Given the description of an element on the screen output the (x, y) to click on. 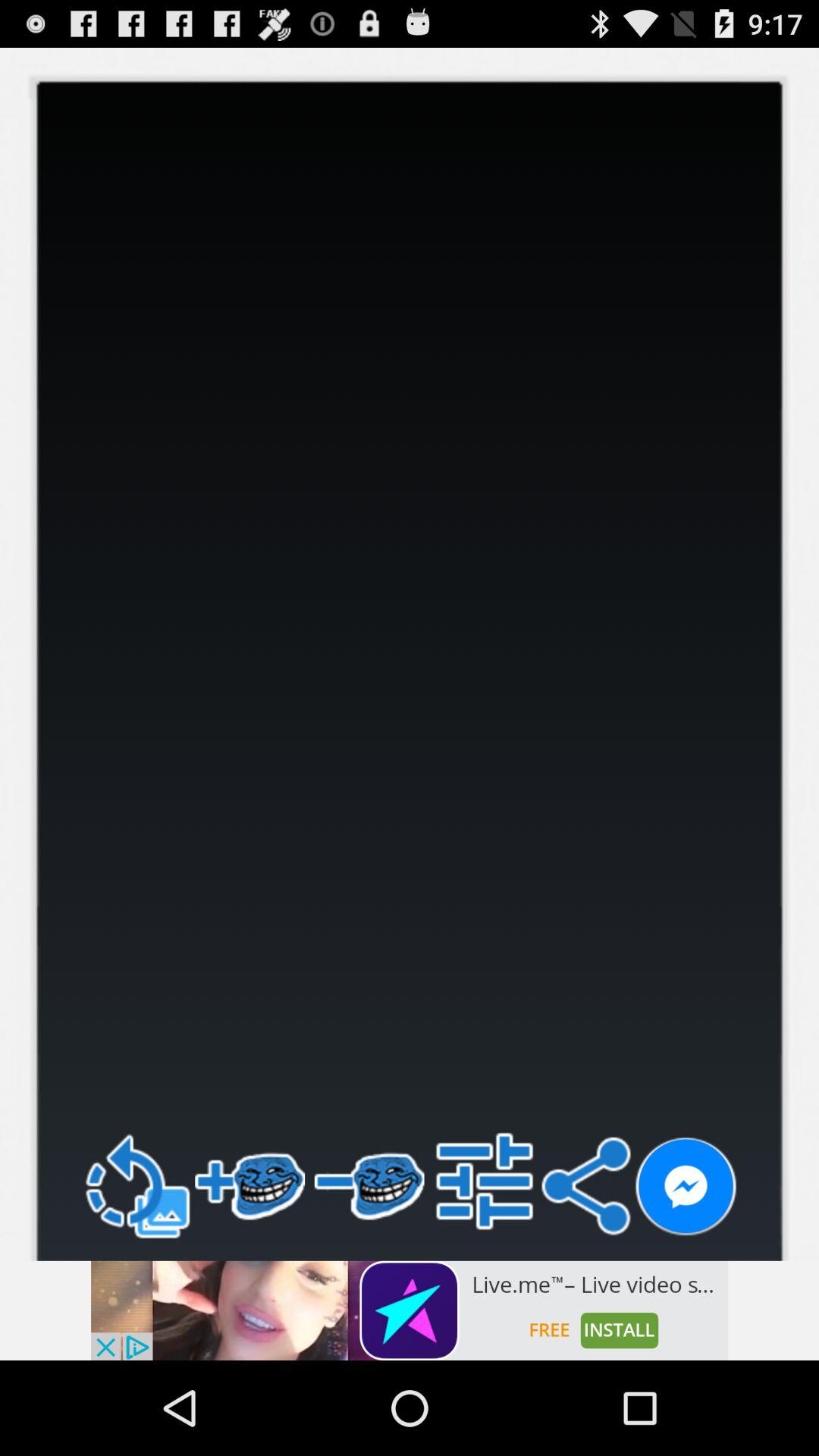
go to menu (484, 1181)
